Given the description of an element on the screen output the (x, y) to click on. 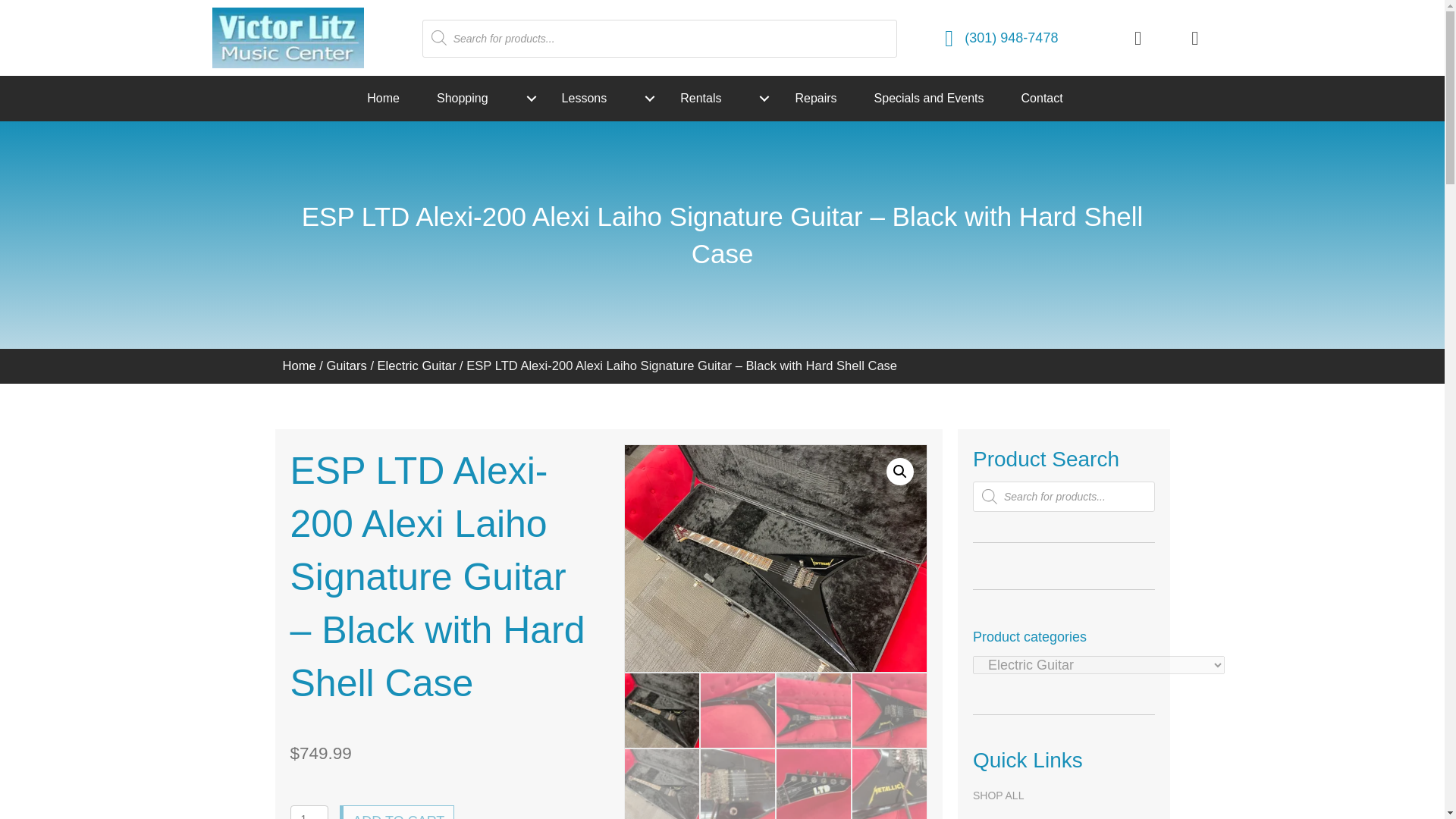
m1lsbeyzoedujcyejeok (775, 558)
j1xfw6t7vtd6d7a3jwzt (1078, 558)
Shopping (487, 98)
Home (390, 98)
Logo (288, 37)
1 (309, 812)
